Given the description of an element on the screen output the (x, y) to click on. 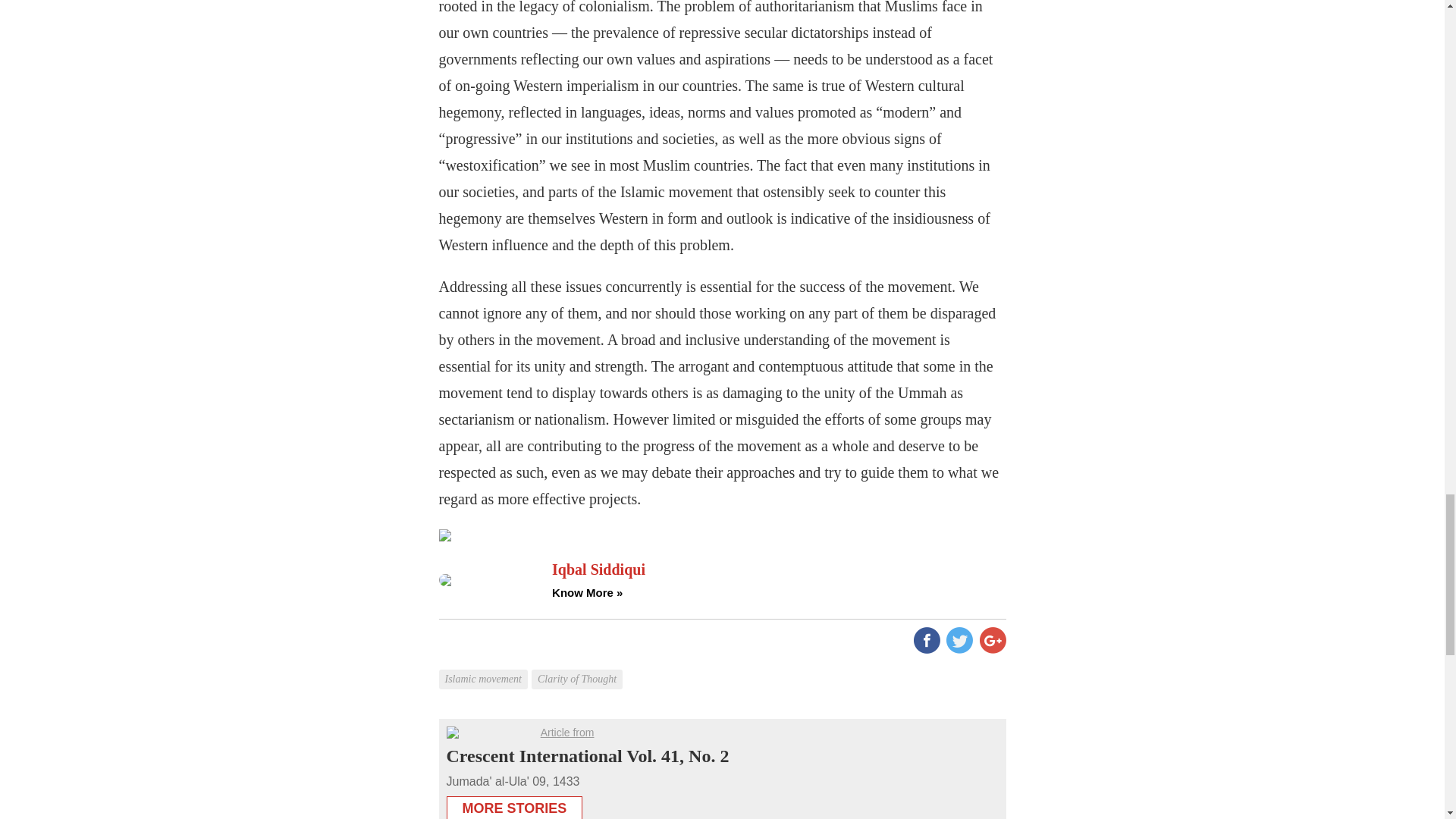
MORE STORIES (513, 803)
Islamic movement (484, 667)
Iqbal Siddiqui (778, 569)
Clarity of Thought (578, 667)
MORE STORIES (513, 807)
